Given the description of an element on the screen output the (x, y) to click on. 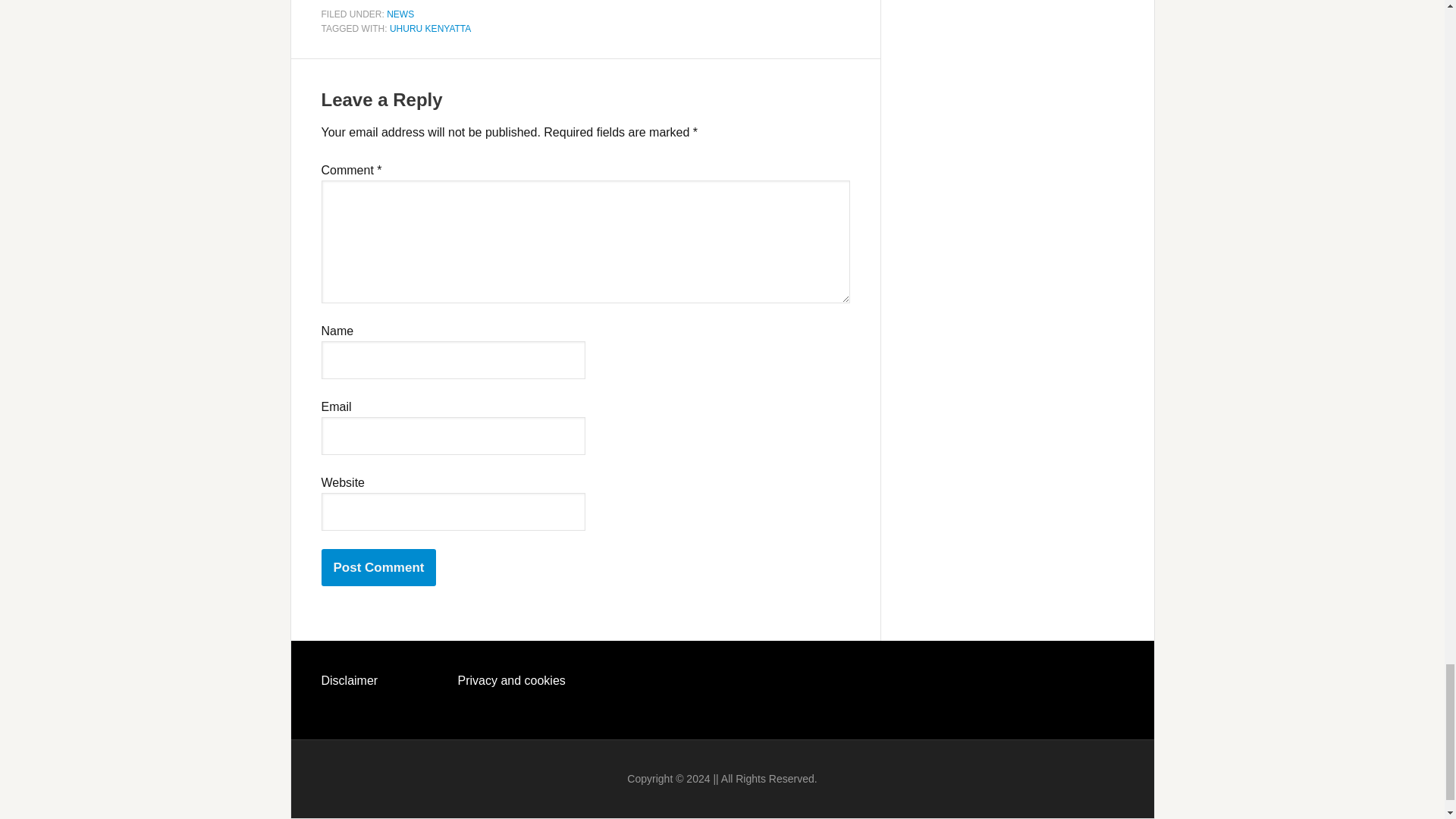
NEWS (400, 13)
Post Comment (378, 567)
UHURU KENYATTA (430, 28)
Post Comment (378, 567)
